Given the description of an element on the screen output the (x, y) to click on. 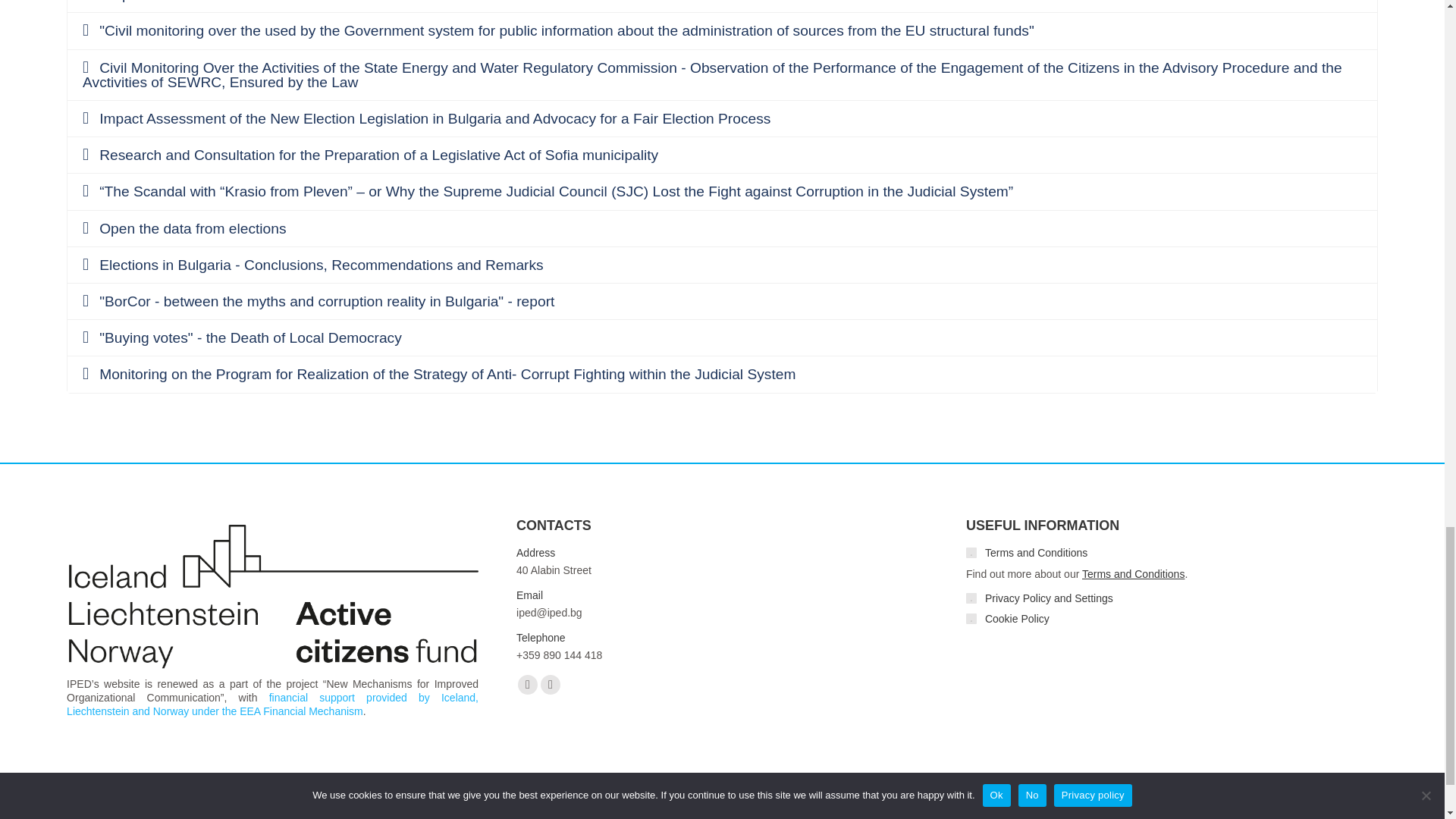
Twitter page opens in new window (550, 684)
Facebook page opens in new window (527, 684)
